Given the description of an element on the screen output the (x, y) to click on. 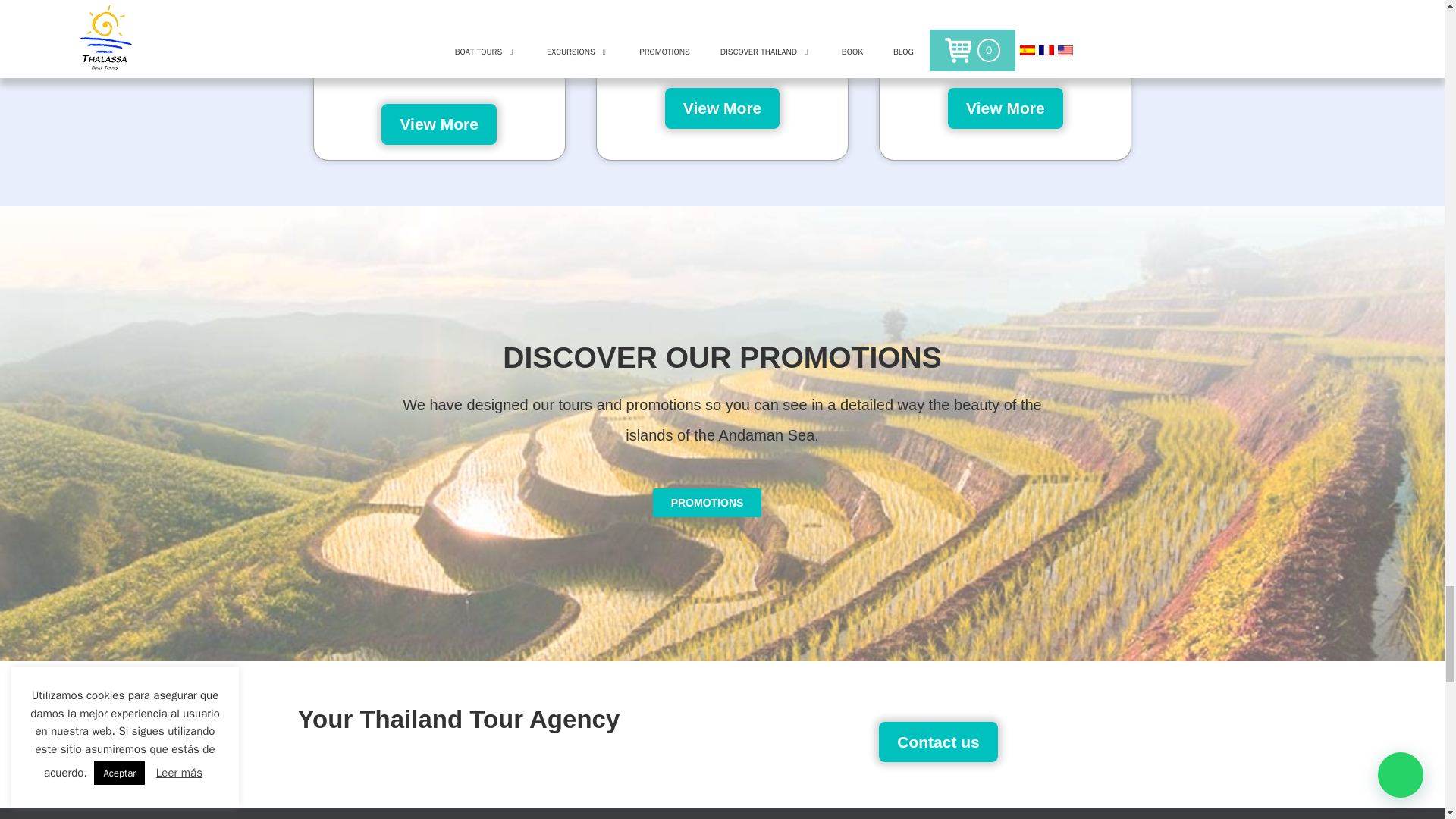
Contact us (938, 741)
PROMOTIONS (706, 502)
View More (1004, 107)
View More (438, 124)
View More (721, 107)
